Given the description of an element on the screen output the (x, y) to click on. 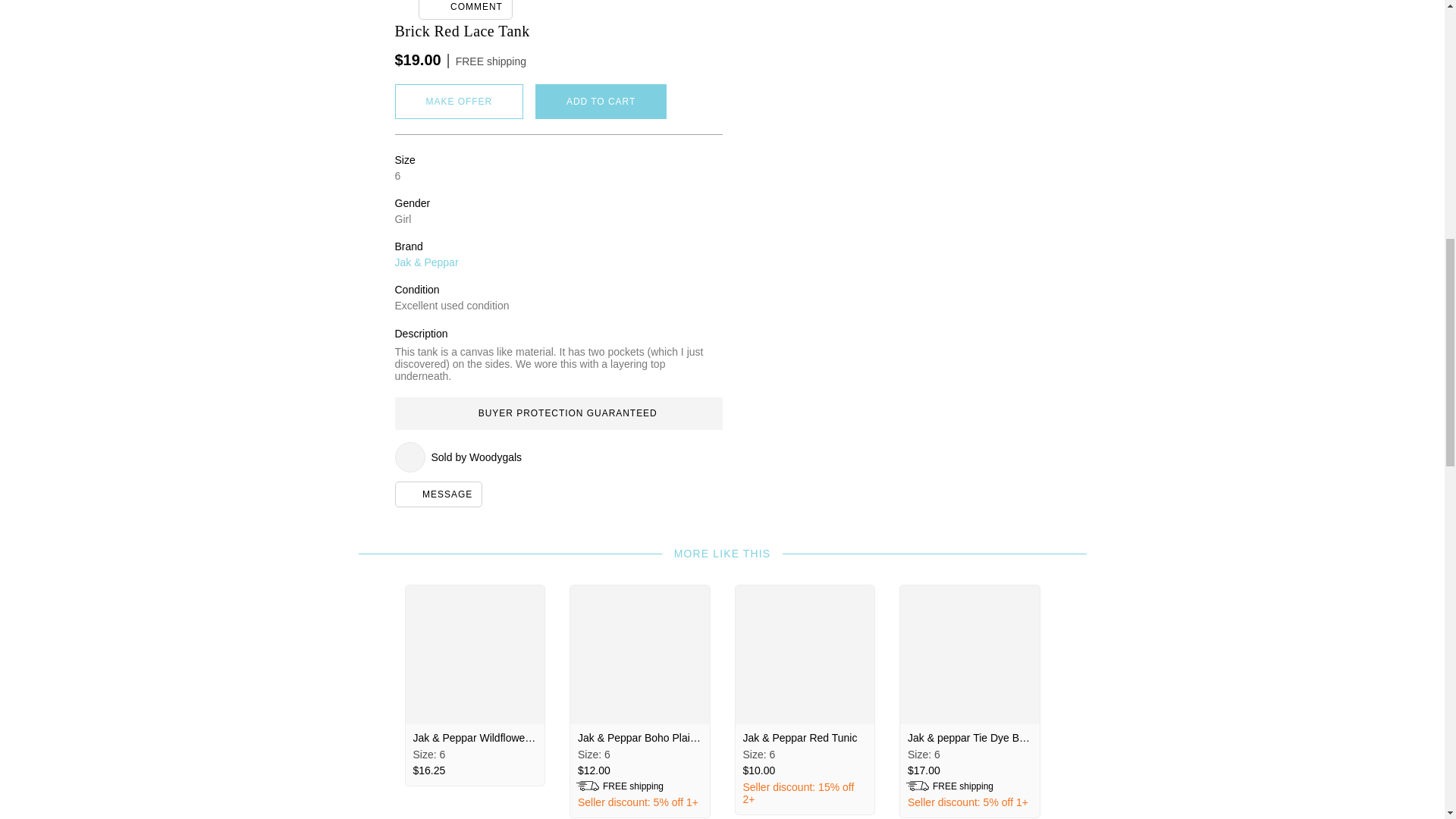
MAKE OFFER (458, 101)
BUYER PROTECTION GUARANTEED (558, 413)
Sold by Woodygals (558, 457)
COMMENT (465, 9)
MESSAGE (437, 493)
